Given the description of an element on the screen output the (x, y) to click on. 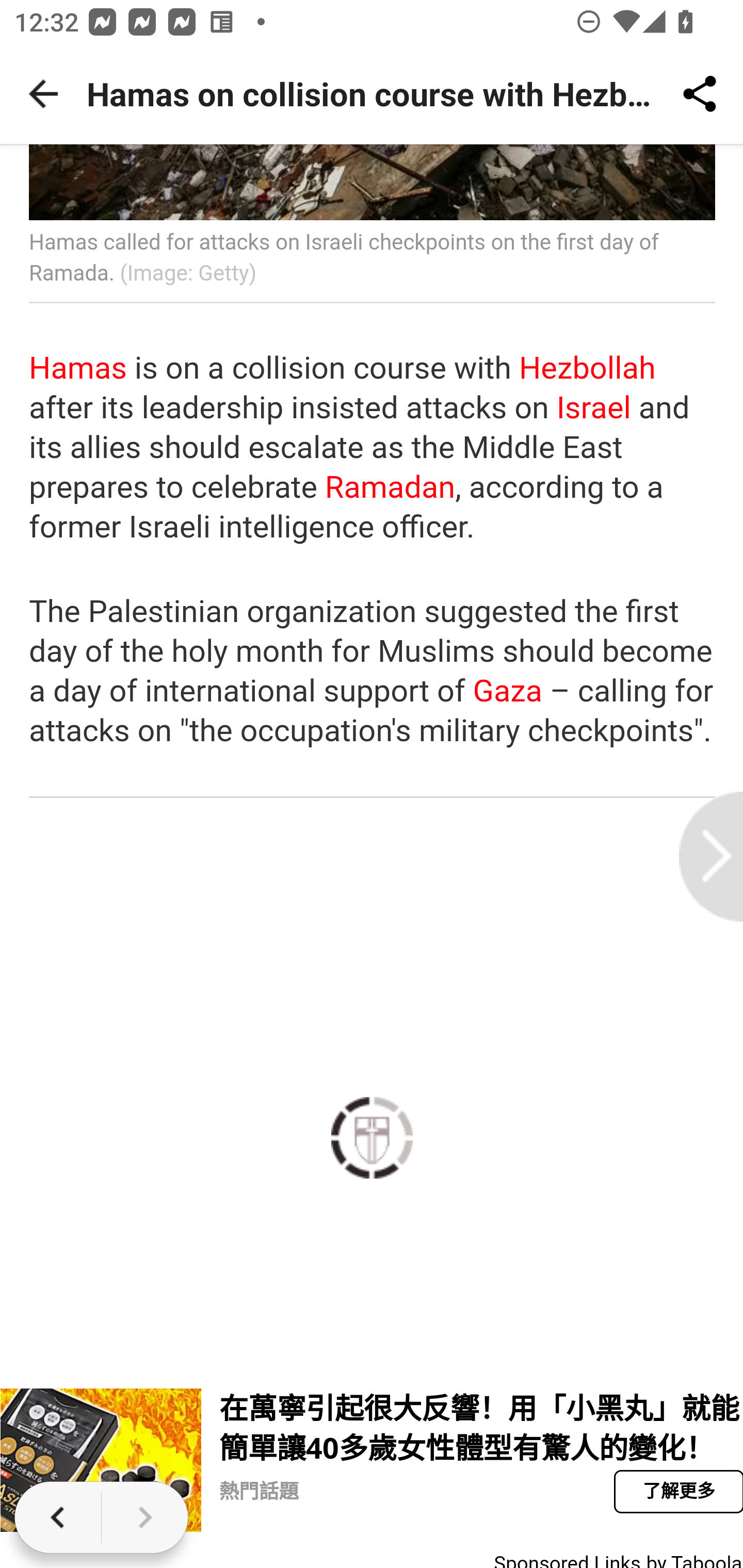
Hamas (77, 368)
Hezbollah (587, 368)
Israel (594, 409)
Ramadan (389, 487)
Gaza (507, 691)
在萬寧引起很大反響！用「小黑丸」就能簡單讓40多歲女性體型有驚人的變化！ (101, 1459)
了解更多 (677, 1491)
了解更多 (677, 1491)
